Given the description of an element on the screen output the (x, y) to click on. 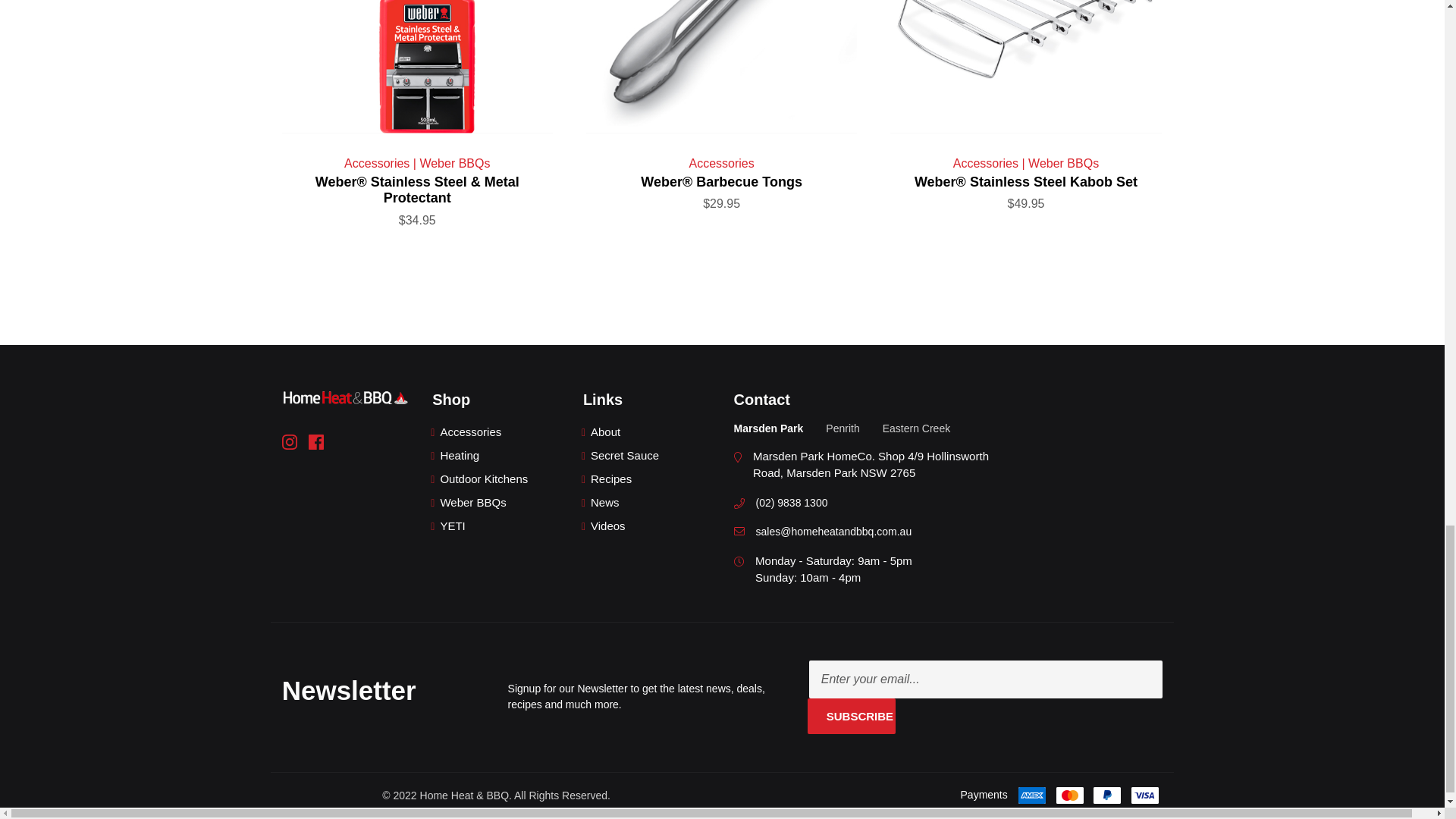
SUBSCRIBE (852, 715)
